Given the description of an element on the screen output the (x, y) to click on. 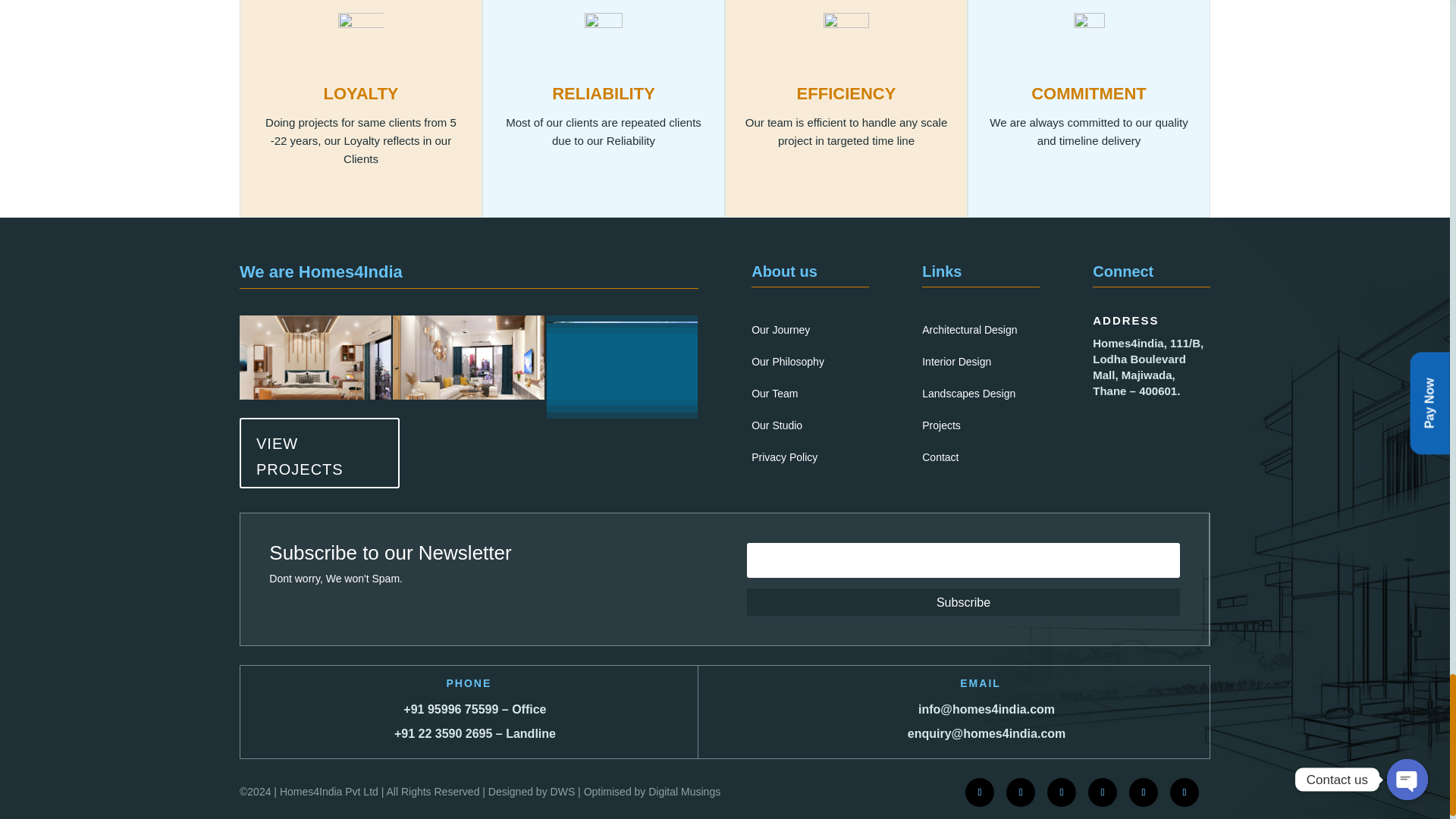
Follow on Facebook (979, 792)
Follow on Pinterest (1184, 792)
Follow on X (1101, 792)
Follow on Google (1143, 792)
Follow on LinkedIn (1060, 792)
Follow on Instagram (1020, 792)
